Given the description of an element on the screen output the (x, y) to click on. 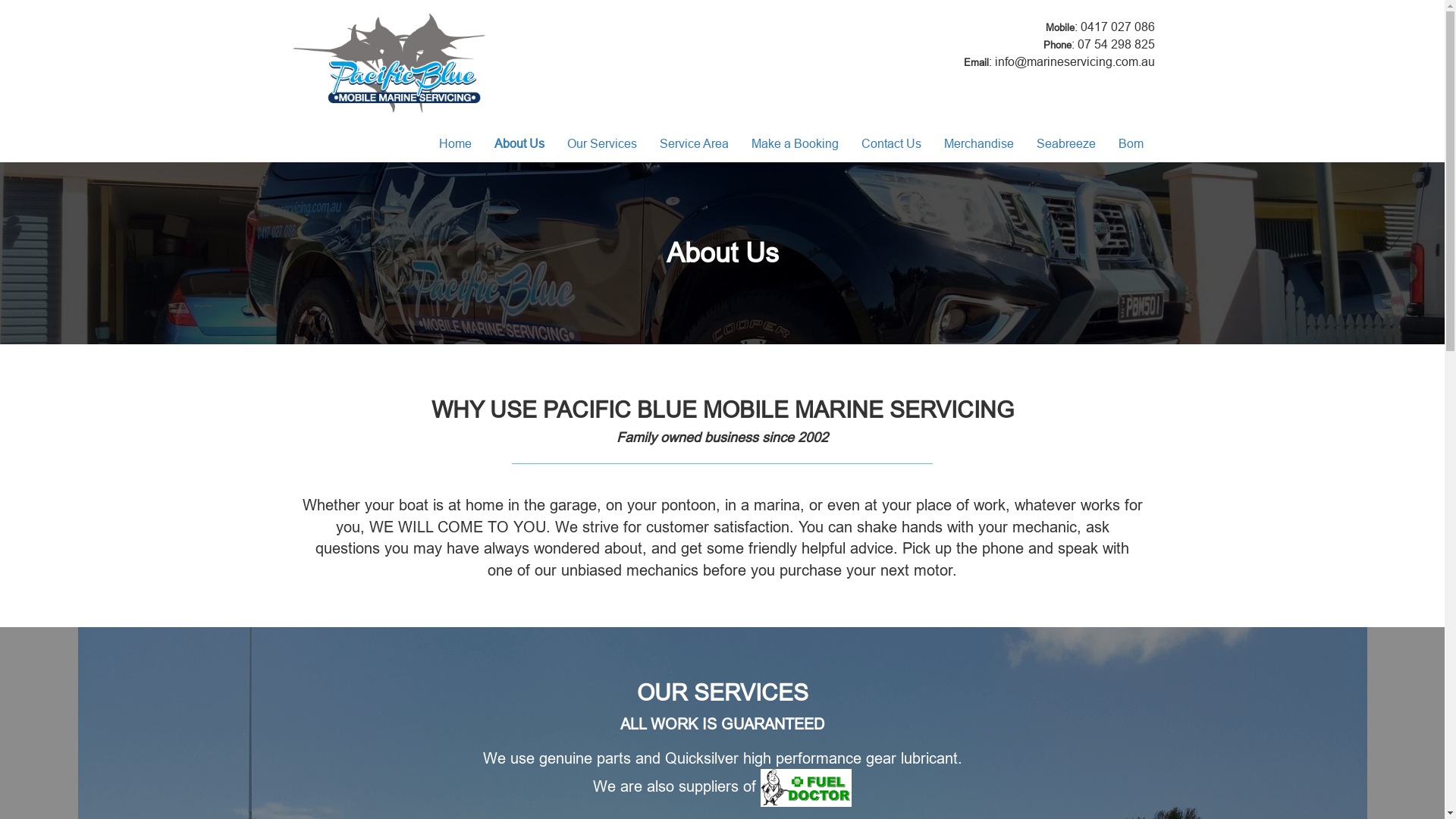
Home Element type: text (455, 143)
Contact Us Element type: text (890, 143)
Bom Element type: text (1130, 143)
Service Area Element type: text (693, 143)
Our Services Element type: text (601, 143)
About Us Element type: text (518, 143)
Merchandise Element type: text (978, 143)
Seabreeze Element type: text (1066, 143)
Make a Booking Element type: text (795, 143)
